Given the description of an element on the screen output the (x, y) to click on. 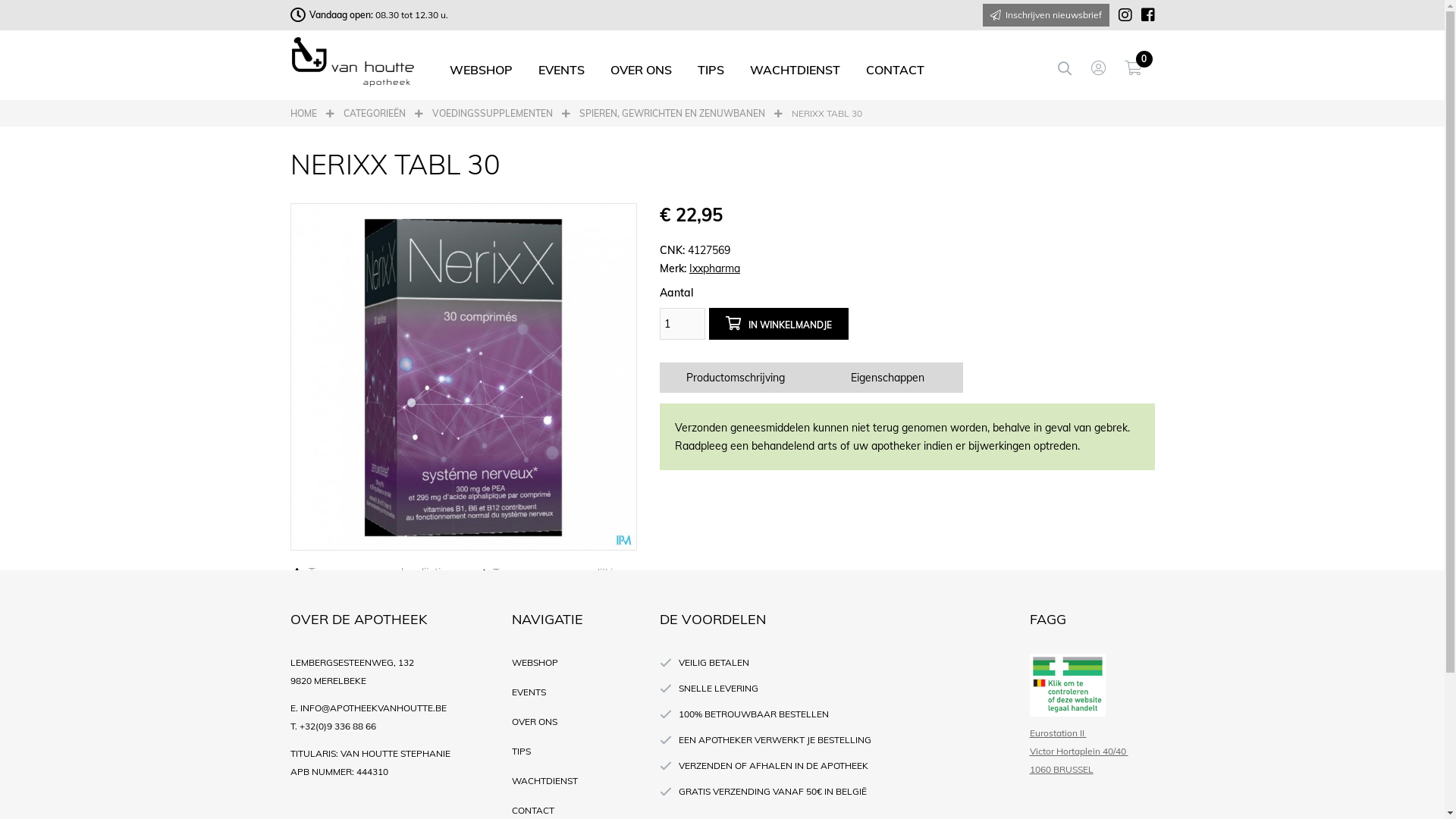
Eigenschappen Element type: text (887, 377)
OVER ONS Element type: text (641, 69)
Vandaag open 08.30 tot 12.30 u. Element type: text (368, 15)
WACHTDIENST Element type: text (794, 69)
VOEDINGSSUPPLEMENTEN Element type: text (492, 113)
Eurostation II 
Victor Hortaplein 40/40 
1060 BRUSSEL Element type: text (1091, 751)
SPIEREN, GEWRICHTEN EN ZENUWBANEN Element type: text (672, 113)
Toevoegen aan vergelijking Element type: text (549, 572)
OVER ONS Element type: text (574, 721)
Inschrijven nieuwsbrief Element type: text (1045, 14)
https://www.instagram.com/apotheekstephanievanhoutte/ Element type: text (1119, 15)
CONTACT Element type: text (894, 69)
TIPS Element type: text (709, 69)
T. +32(0)9 336 88 66 Element type: text (389, 726)
0 Element type: text (1138, 68)
Toevoegen aan verlanglijstje Element type: text (367, 572)
LEMBERGSESTEENWEG, 132
9820 MERELBEKE Element type: text (389, 671)
WEBSHOP Element type: text (481, 69)
TIPS Element type: text (574, 751)
EVENTS Element type: text (560, 69)
WACHTDIENST Element type: text (574, 780)
https://www.facebook.com/apotheekstephanievanhoutte Element type: text (1142, 15)
Ixxpharma Element type: text (714, 268)
IN WINKELMANDJE Element type: text (778, 323)
E. INFO@APOTHEEKVANHOUTTE.BE Element type: text (389, 708)
zoeken Element type: text (1072, 68)
Productomschrijving Element type: text (735, 377)
HOME Element type: text (302, 113)
WEBSHOP Element type: text (574, 662)
EVENTS Element type: text (574, 692)
